Given the description of an element on the screen output the (x, y) to click on. 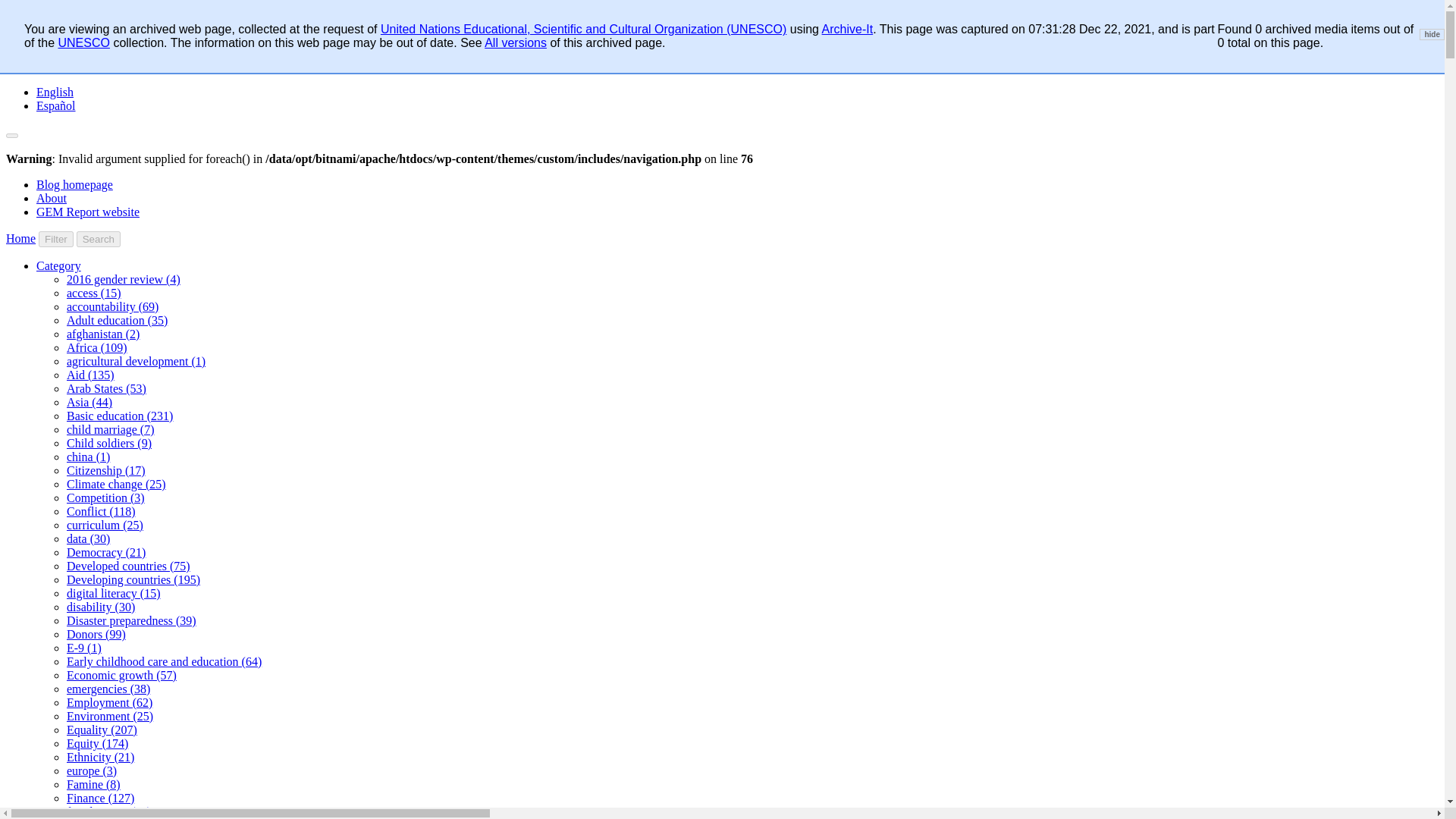
Search (98, 238)
Category (58, 265)
Blog homepage (74, 184)
Home (19, 237)
Filter (56, 238)
UNESCO (83, 42)
GEM Report website (87, 211)
Archive-It (847, 29)
All versions (515, 42)
English (55, 91)
About (51, 197)
